Given the description of an element on the screen output the (x, y) to click on. 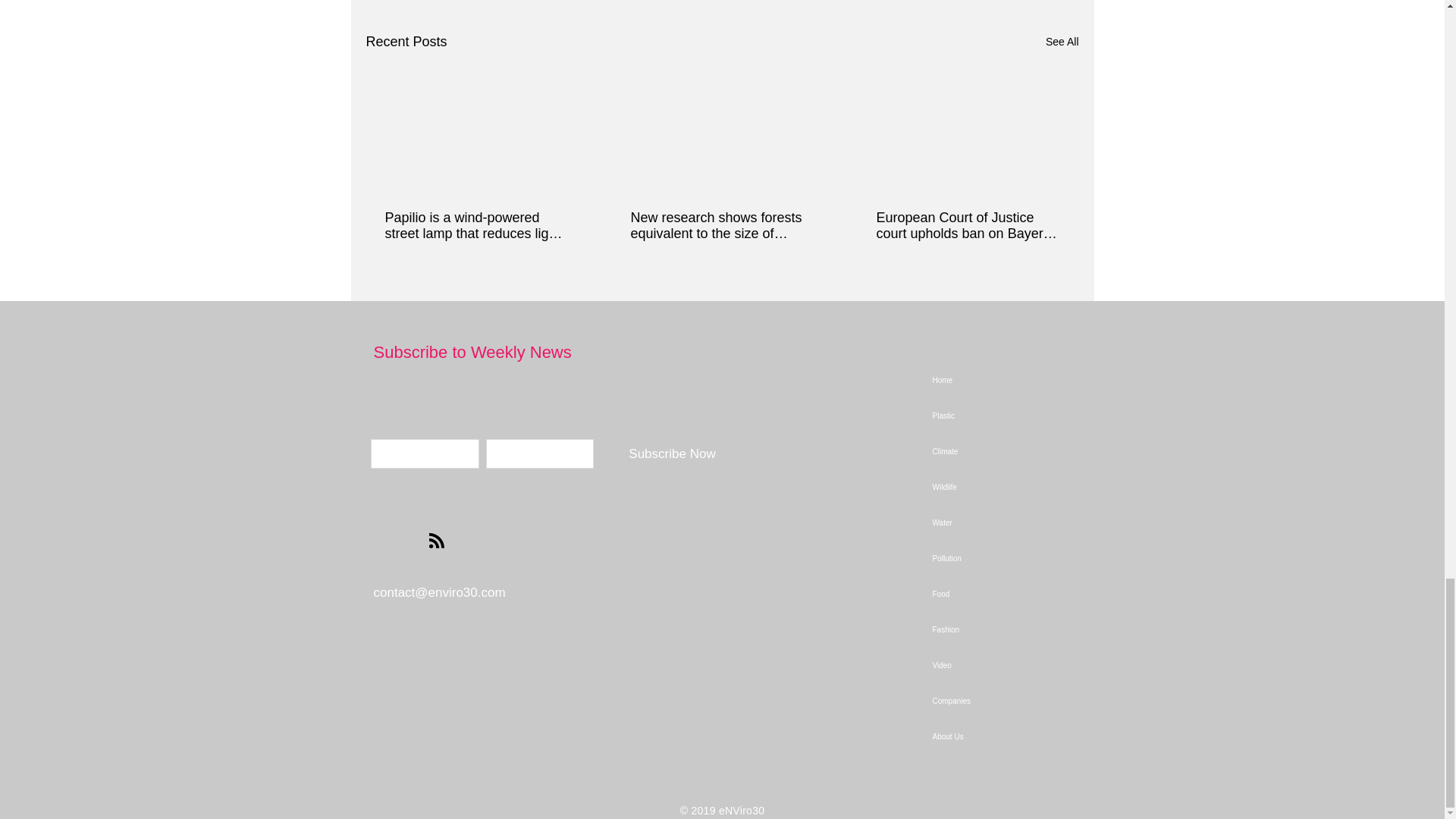
Subscribe Now (672, 453)
See All (1061, 42)
Wildlife (1047, 487)
Plastic (1047, 416)
Water (1047, 522)
Climate (1047, 451)
Home (1047, 380)
